Given the description of an element on the screen output the (x, y) to click on. 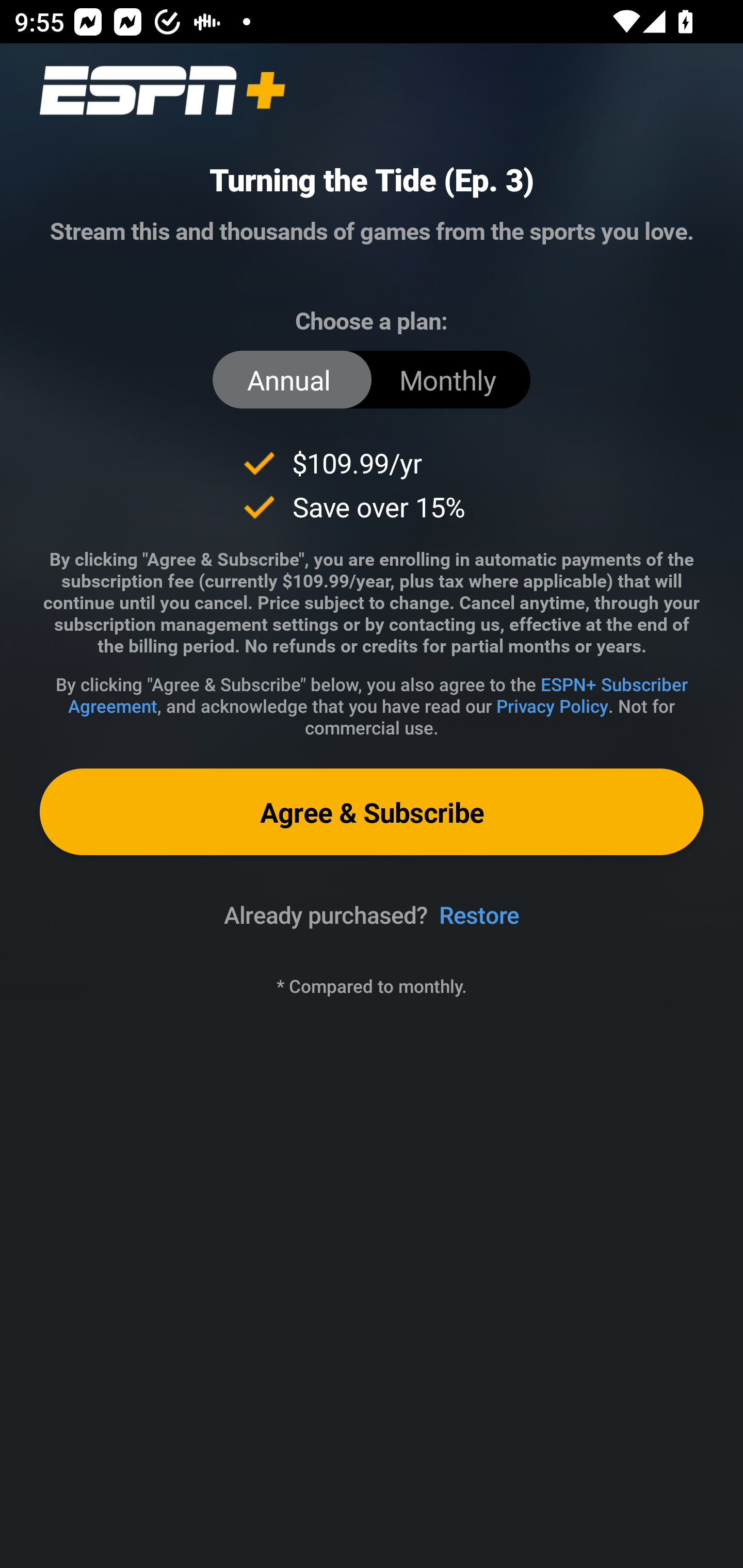
Agree & Subscribe (371, 811)
